Given the description of an element on the screen output the (x, y) to click on. 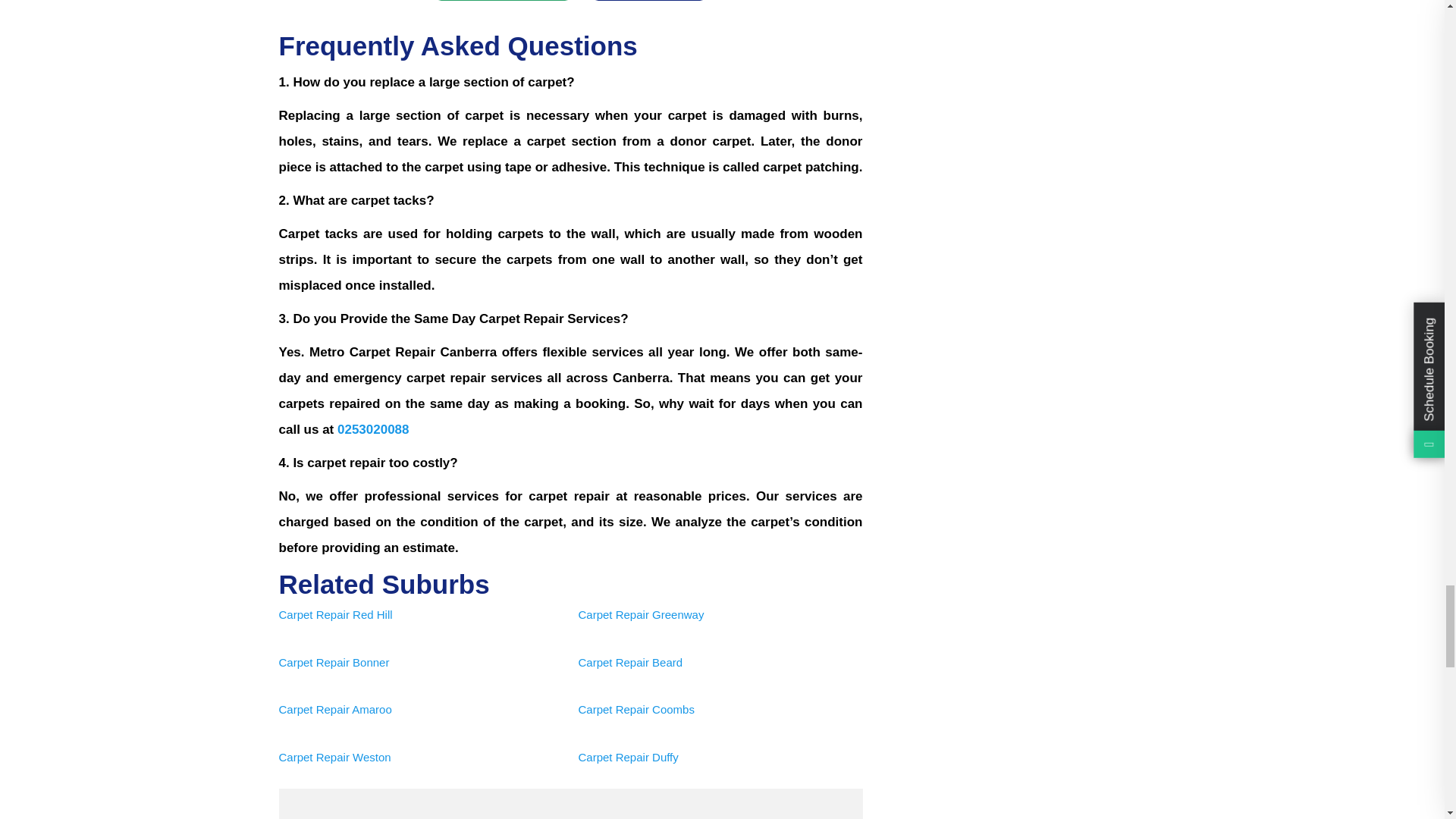
Carpet Repair Amaroo (335, 708)
Google map of Dickson,2602, AU (571, 803)
Carpet Repair Coombs (636, 708)
Carpet Repair Weston (335, 757)
Carpet Repair Duffy (628, 757)
Carpet Repair Bonner (334, 662)
Carpet Repair Beard (630, 662)
Carpet Repair Red Hill (336, 614)
Carpet Repair Greenway (640, 614)
